Given the description of an element on the screen output the (x, y) to click on. 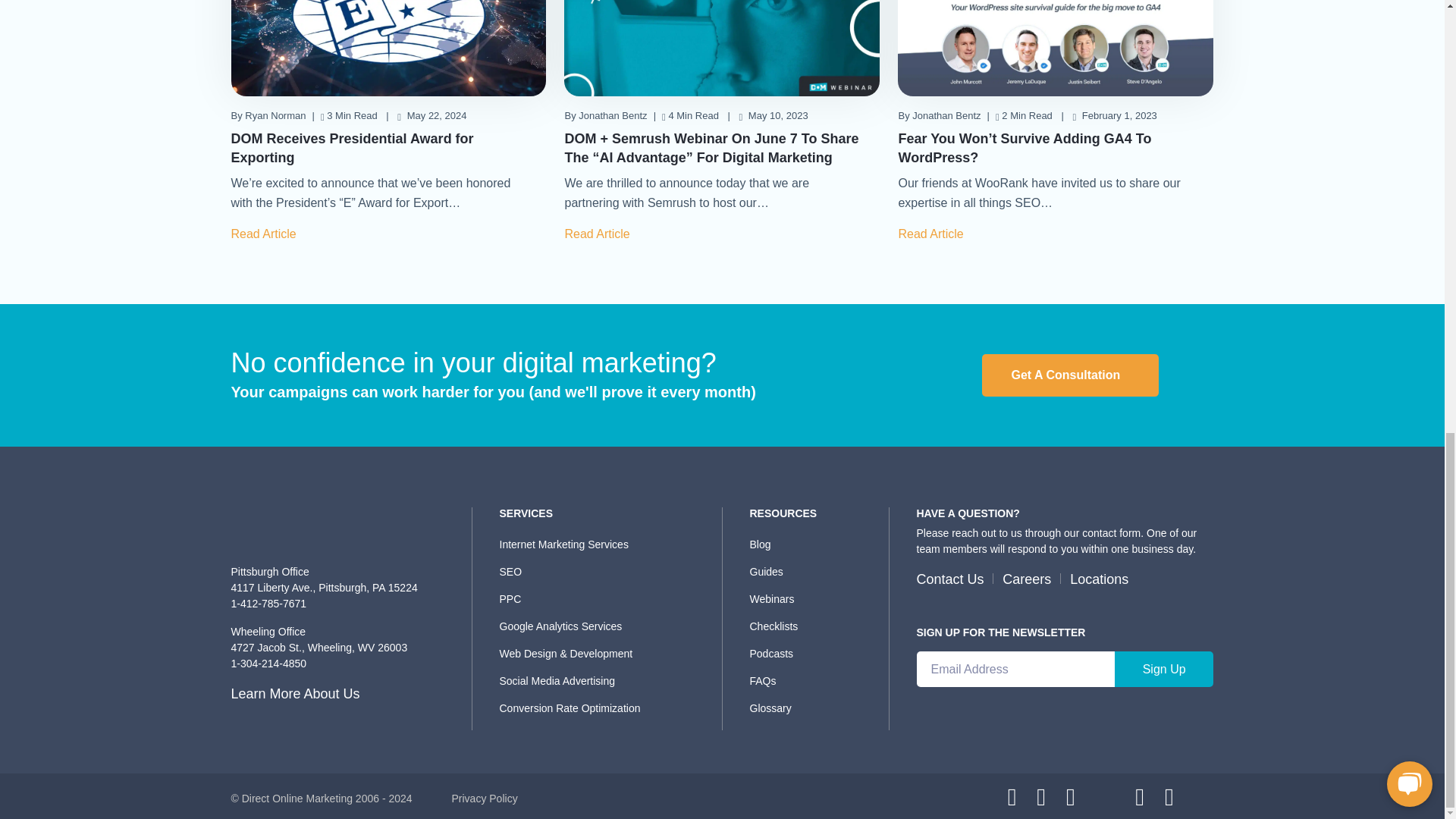
PPC (605, 598)
Sign Up (1164, 669)
Read Article (601, 233)
SEO (605, 571)
Read Article (267, 233)
Internet Marketing Services (605, 544)
Google Analytics Services (605, 626)
DOM Receives Presidential Award for Exporting (351, 148)
